Given the description of an element on the screen output the (x, y) to click on. 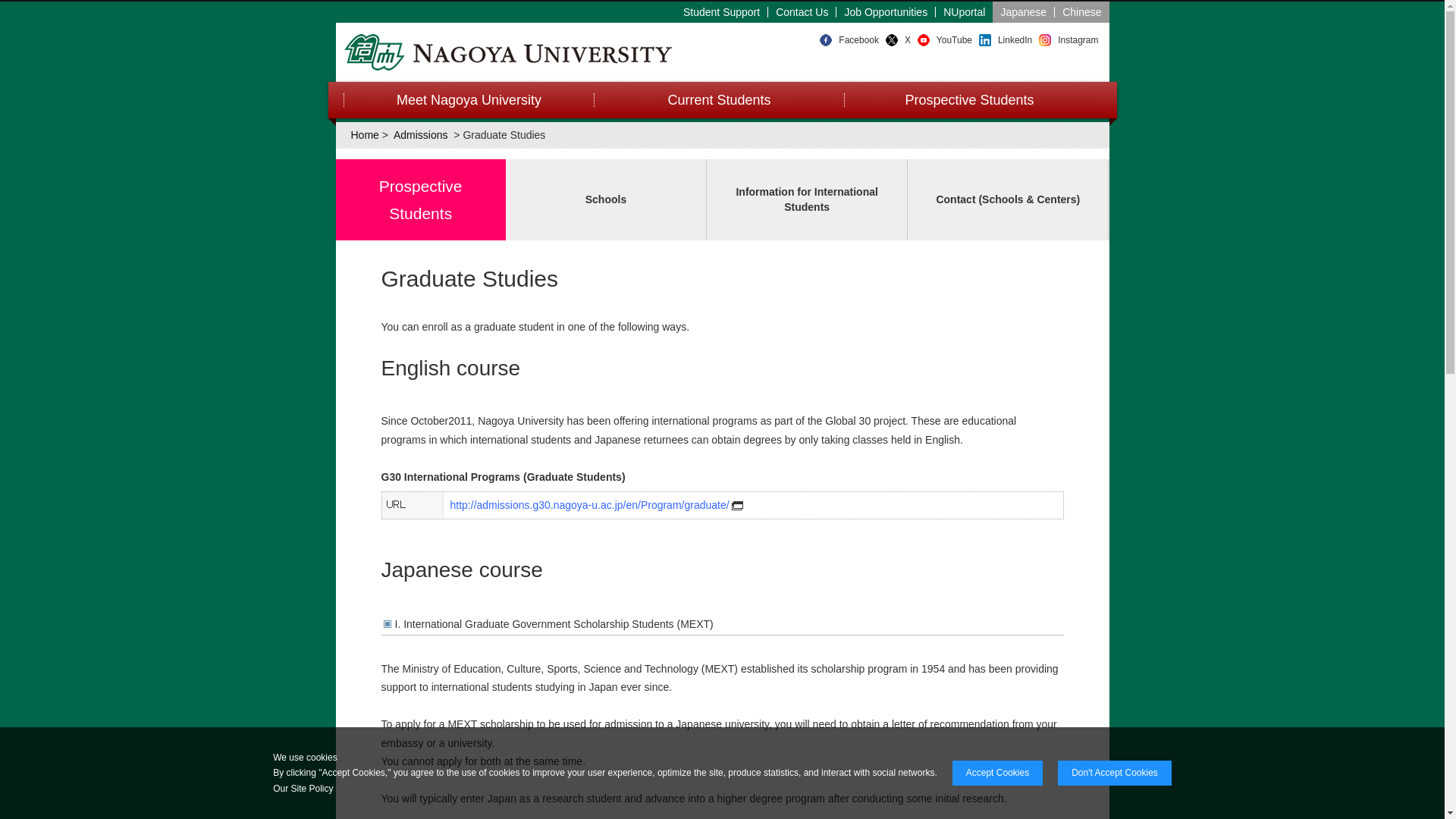
YouTube (954, 40)
Home (364, 134)
Job Opportunities (885, 11)
LinkedIn (1014, 40)
Current Students (717, 99)
Facebook (858, 40)
Contact Us (801, 11)
Instagram (1077, 40)
NUportal (964, 11)
Chinese (1081, 11)
Japanese (1023, 11)
Prospective Students (968, 99)
Student Support (721, 11)
Meet Nagoya University (467, 99)
